Given the description of an element on the screen output the (x, y) to click on. 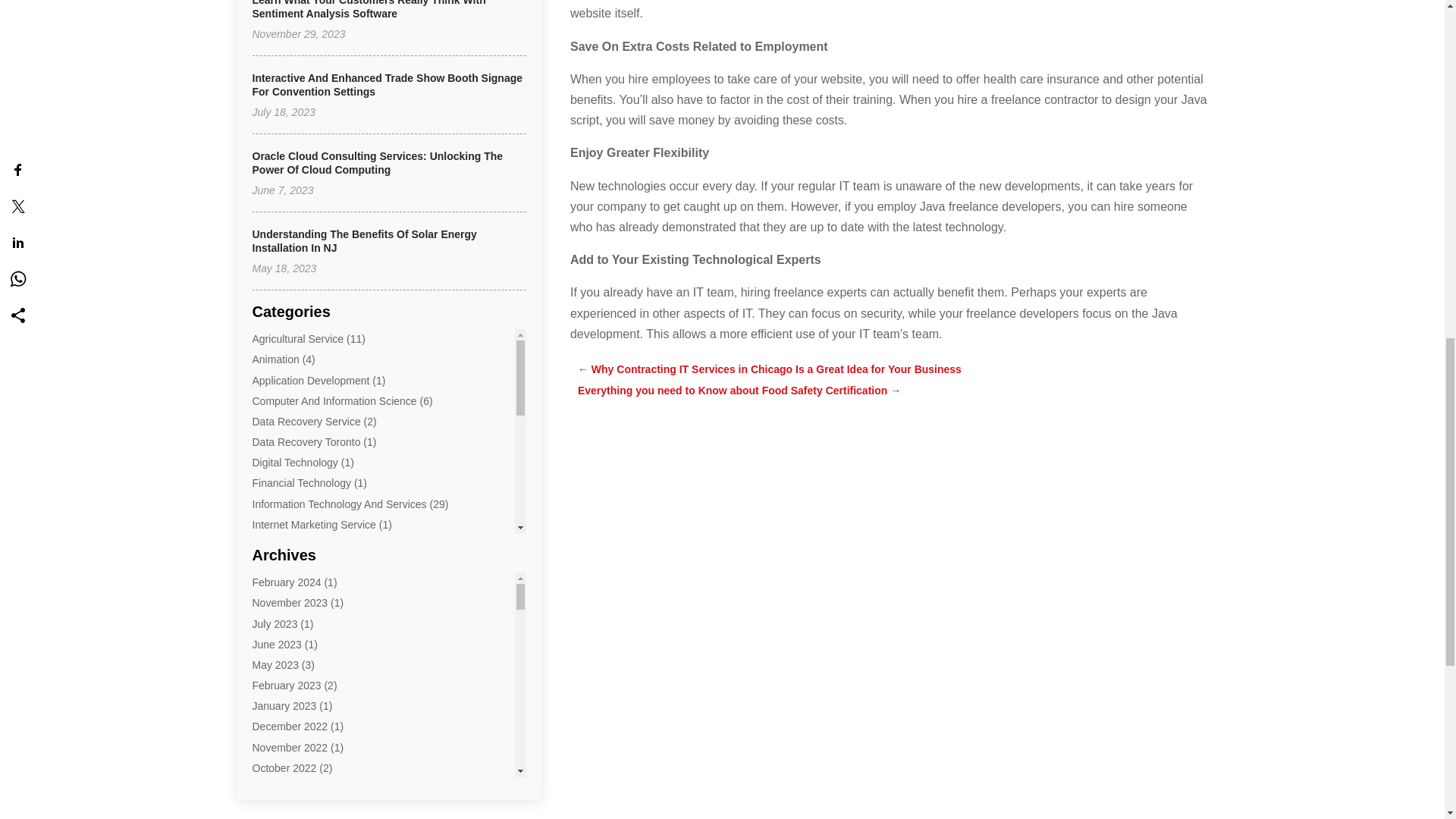
Solar Panels (281, 710)
Science And Technology (308, 585)
Supply Chain Management (315, 730)
Internet Marketing Service (313, 524)
Data Recovery Toronto (305, 441)
Technology (278, 751)
Software Development (305, 668)
Digital Technology (294, 462)
Security System (290, 607)
Application Development (310, 380)
Animation (274, 358)
Information Technology And Services (338, 503)
